Given the description of an element on the screen output the (x, y) to click on. 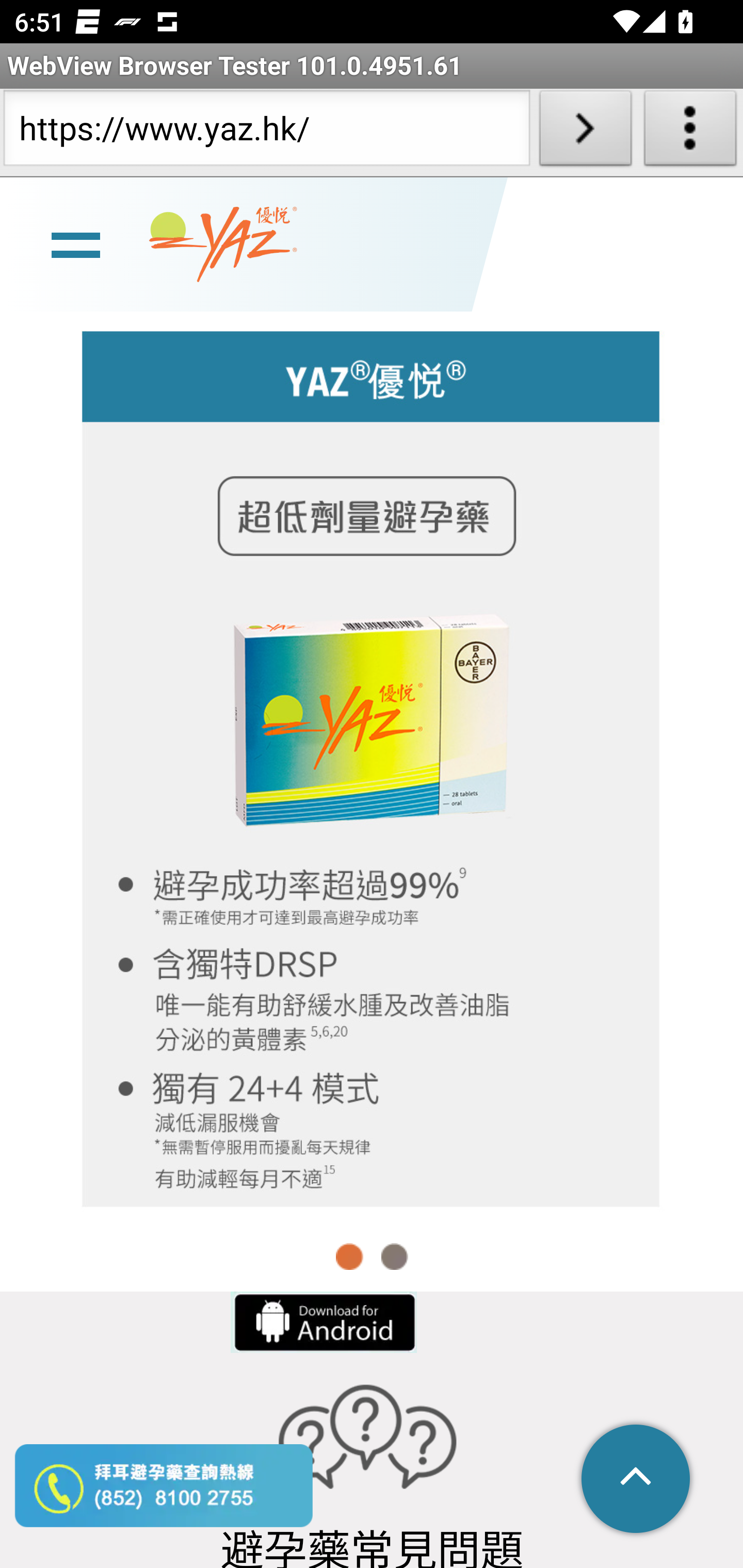
https://www.yaz.hk/ (266, 132)
Load URL (585, 132)
About WebView (690, 132)
www.yaz (222, 244)
line Toggle burger menu (75, 243)
slide 1 (371, 767)
1 of 2 (349, 1256)
2 of 2 (393, 1256)
details?id=com.bayer.ph (322, 1321)
 (636, 1480)
